Given the description of an element on the screen output the (x, y) to click on. 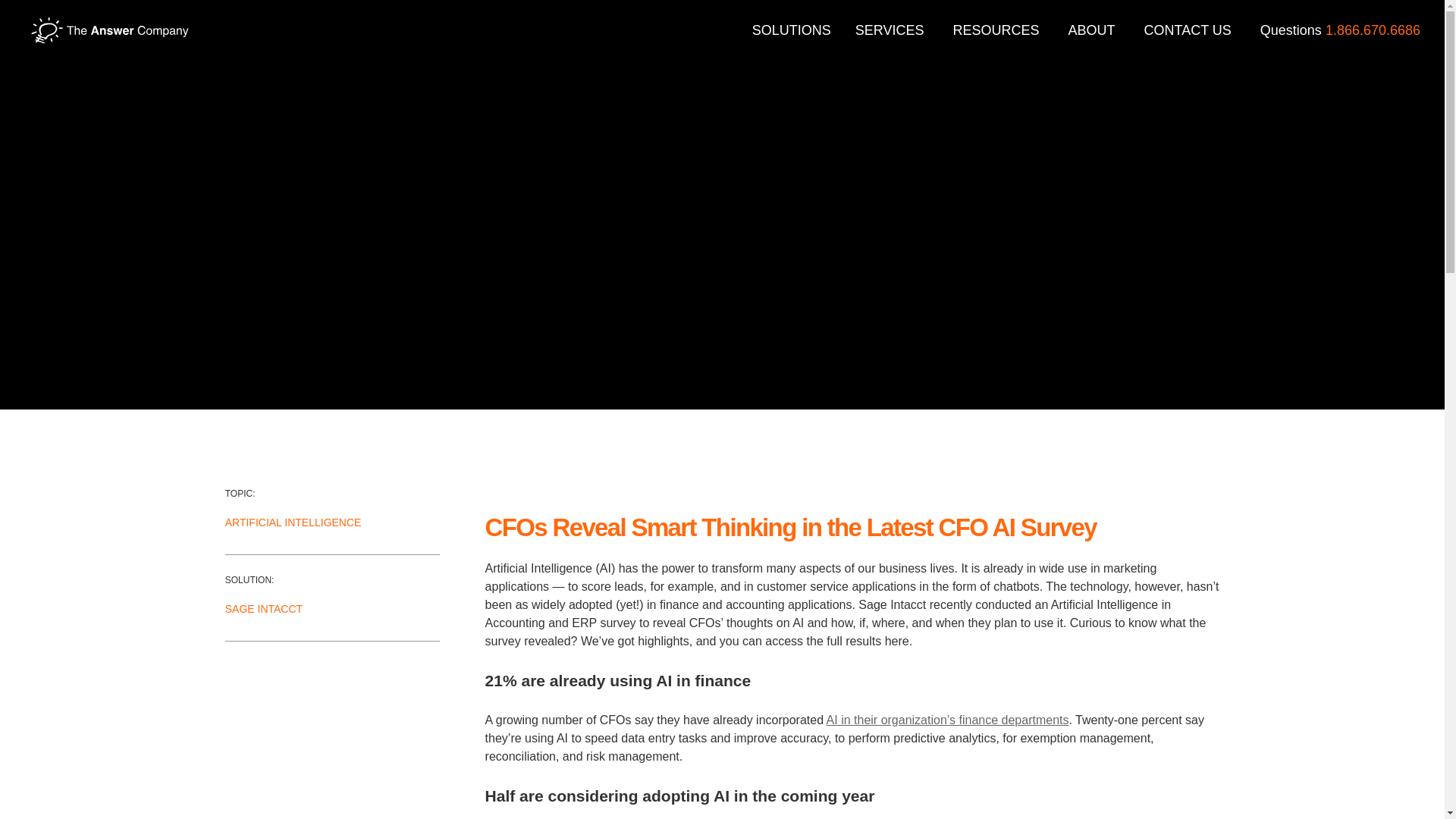
SOLUTIONS (791, 30)
RESOURCES (997, 30)
SERVICES (892, 30)
The Answer Company (109, 30)
